Given the description of an element on the screen output the (x, y) to click on. 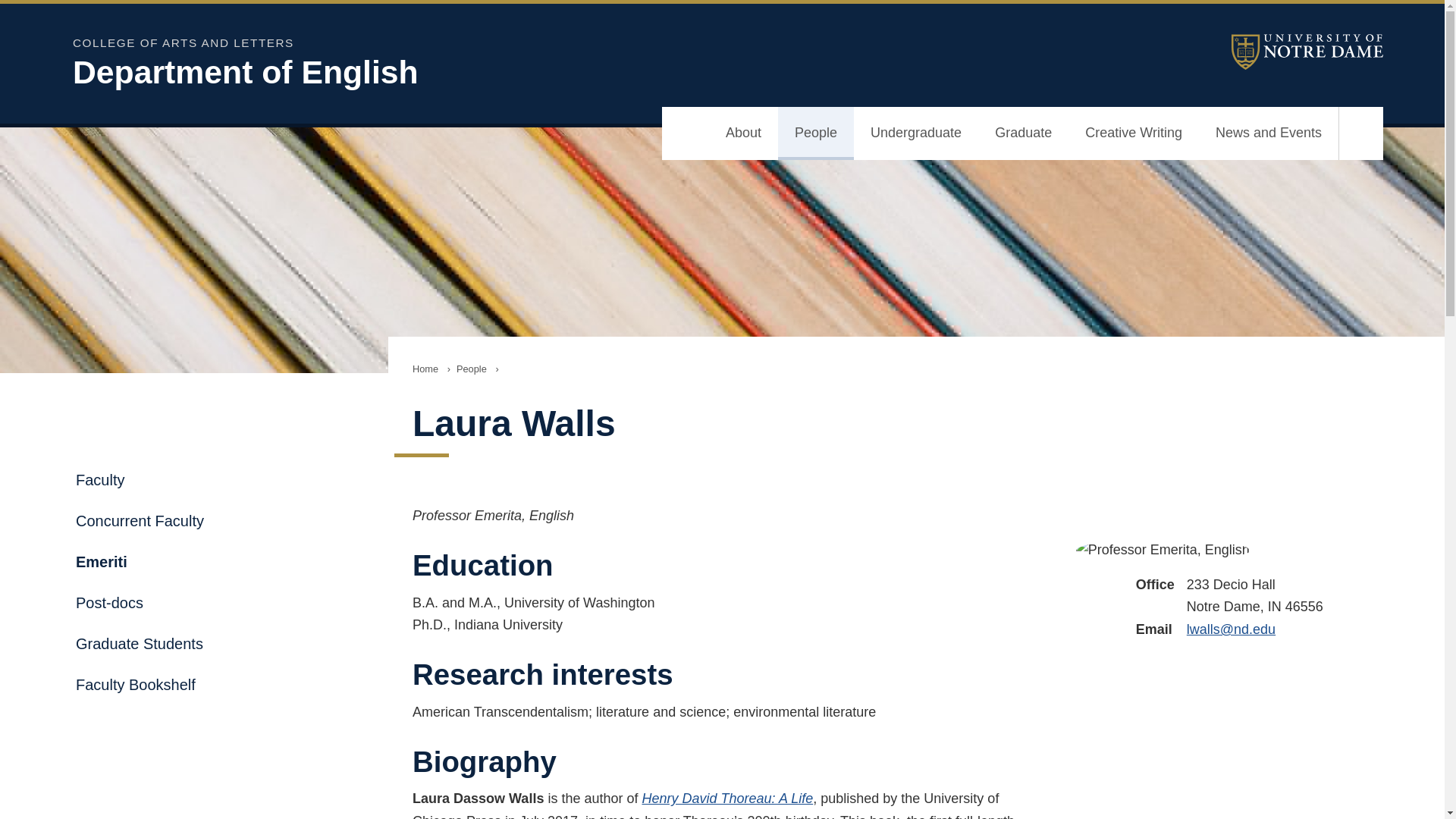
People (471, 368)
News and Events (1268, 133)
About (743, 133)
Undergraduate (915, 133)
Home (425, 368)
People (815, 133)
Henry David Thoreau: A Life (727, 798)
Creative Writing (1133, 133)
University of Notre Dame (1307, 51)
Department of English (466, 72)
Graduate (1023, 133)
